Given the description of an element on the screen output the (x, y) to click on. 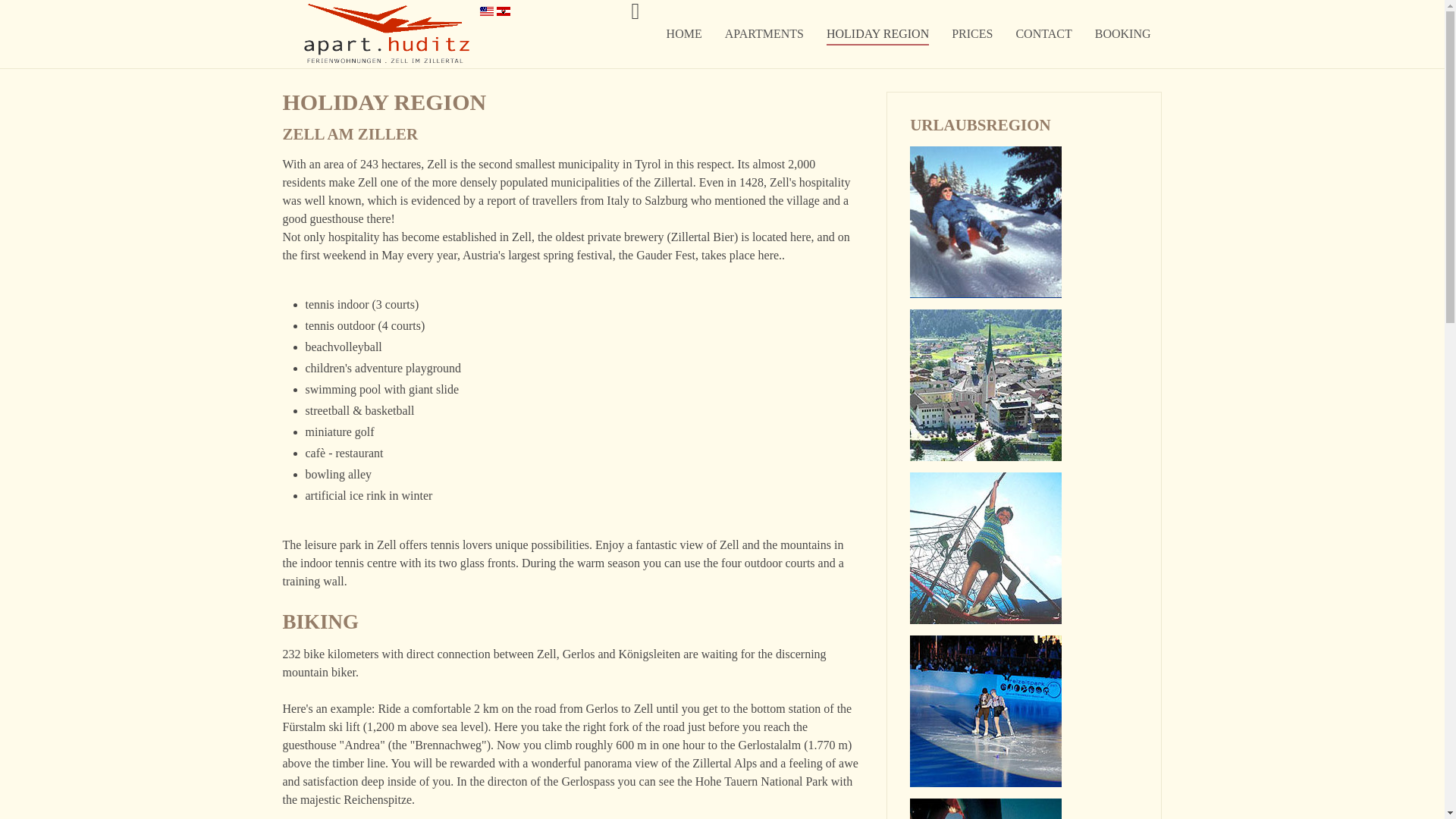
deutsch (502, 10)
APARTMENTS (764, 33)
HOLIDAY REGION (877, 33)
